Given the description of an element on the screen output the (x, y) to click on. 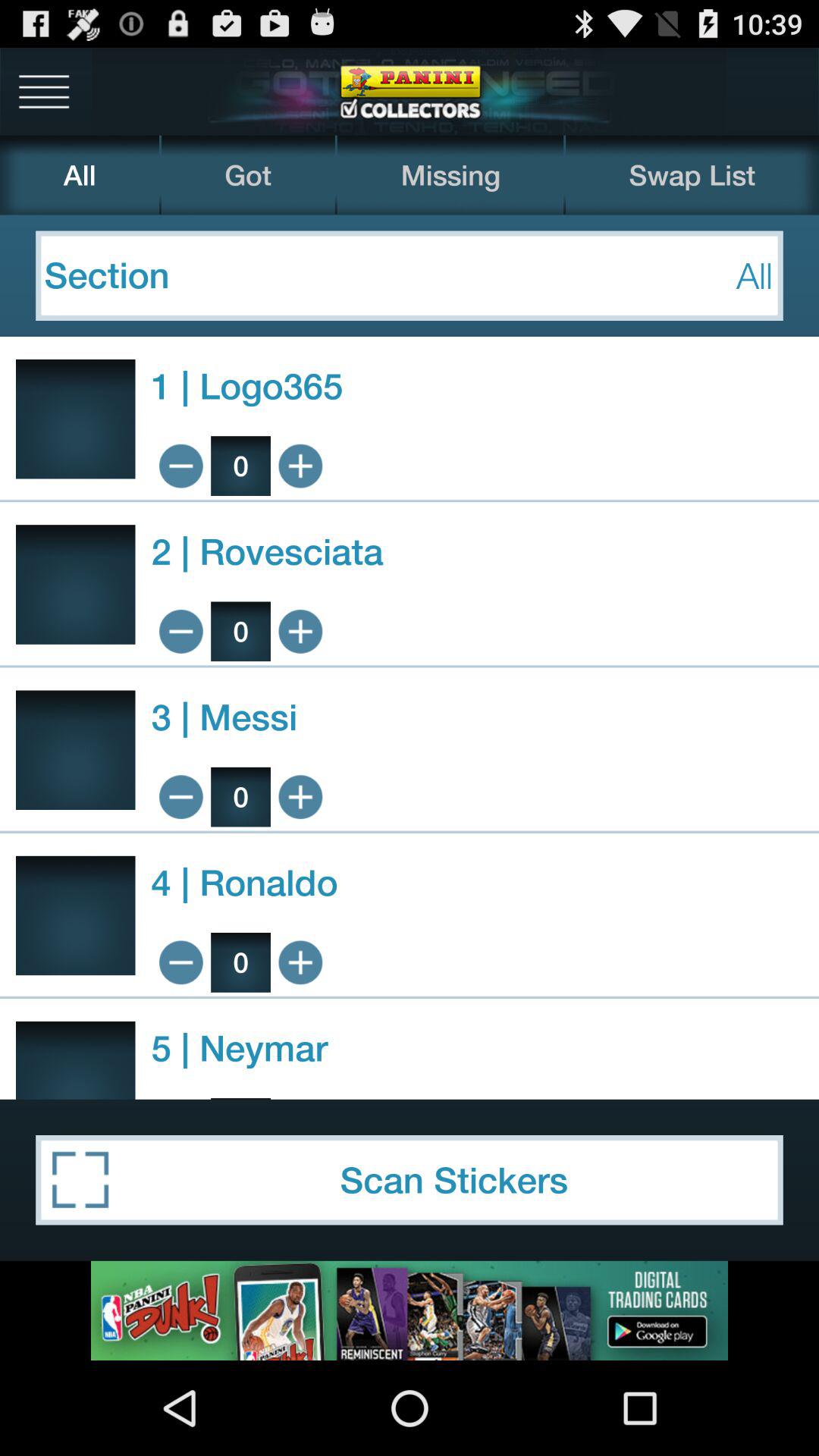
more settings (43, 91)
